Given the description of an element on the screen output the (x, y) to click on. 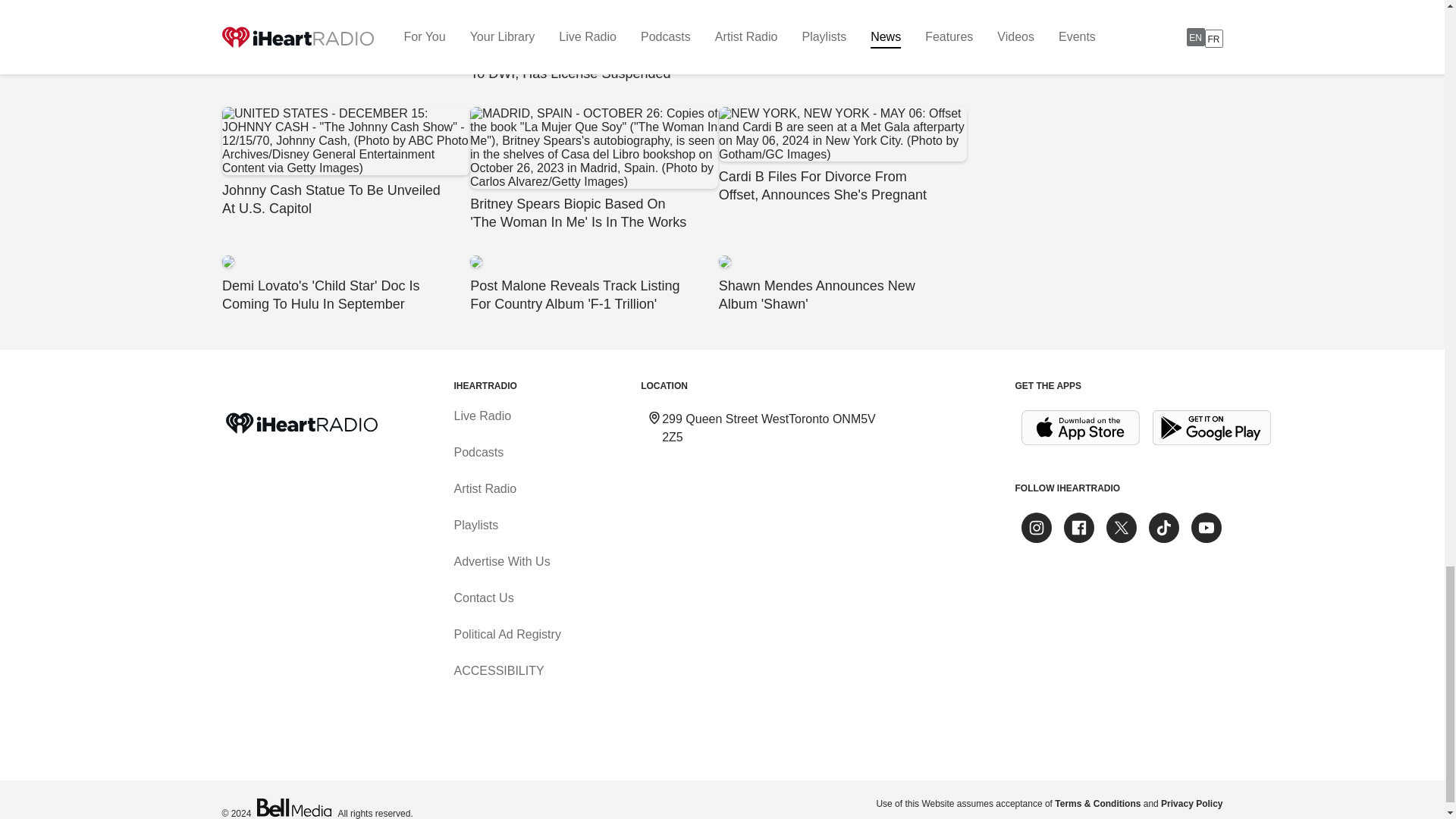
Playlists (474, 524)
Contact Us (482, 597)
Privacy Policy (1191, 803)
Johnny Cash Statue To Be Unveiled At U.S. Capitol (344, 162)
Advertise With Us (501, 561)
Shawn Mendes Announces New Album 'Shawn' (841, 283)
Download on the App Store (1080, 427)
